Given the description of an element on the screen output the (x, y) to click on. 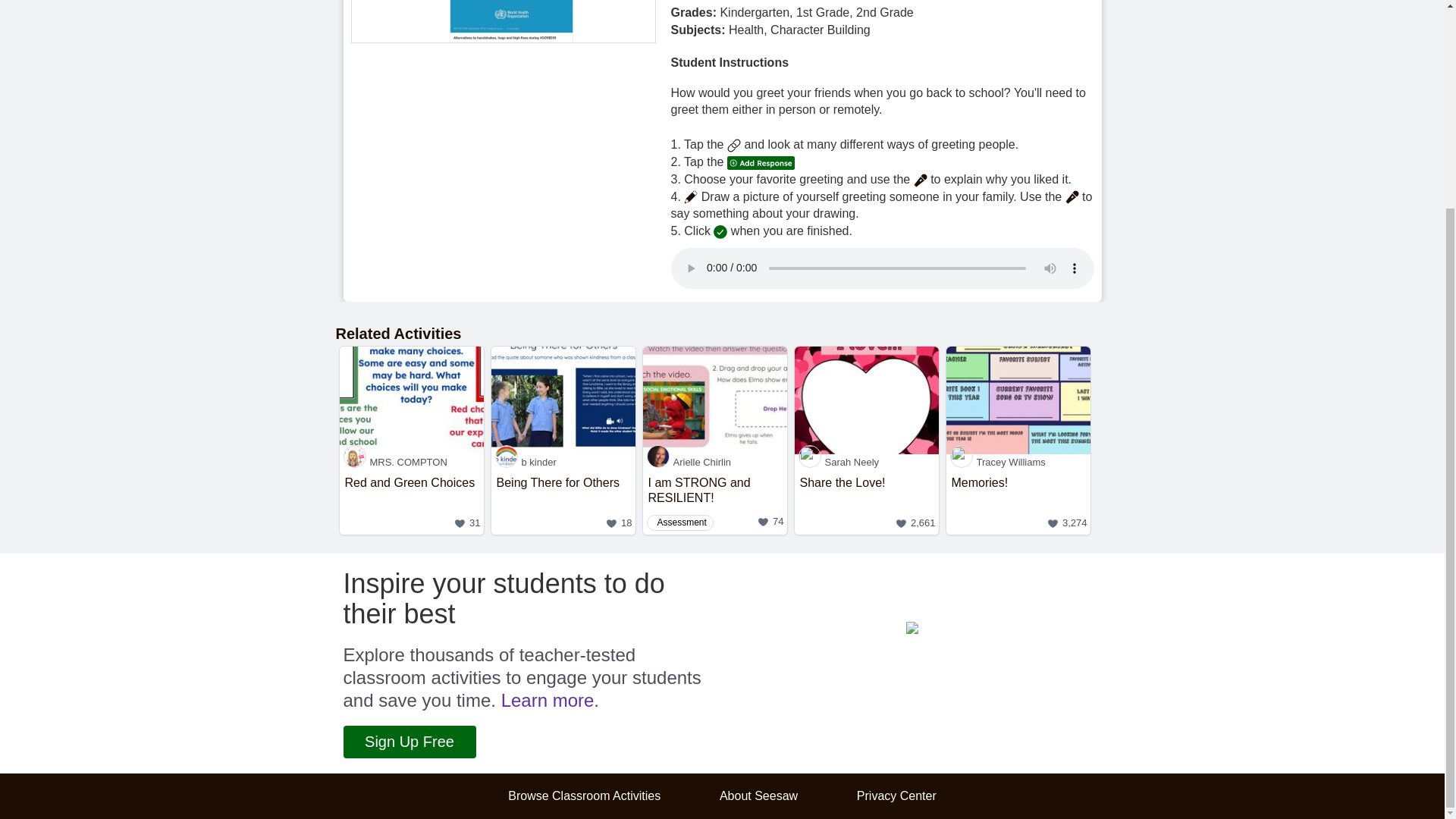
Tracey Williams (1018, 462)
b kinder (563, 462)
Privacy Center (895, 796)
MRS. COMPTON (866, 502)
Sarah Neely (1018, 502)
